Given the description of an element on the screen output the (x, y) to click on. 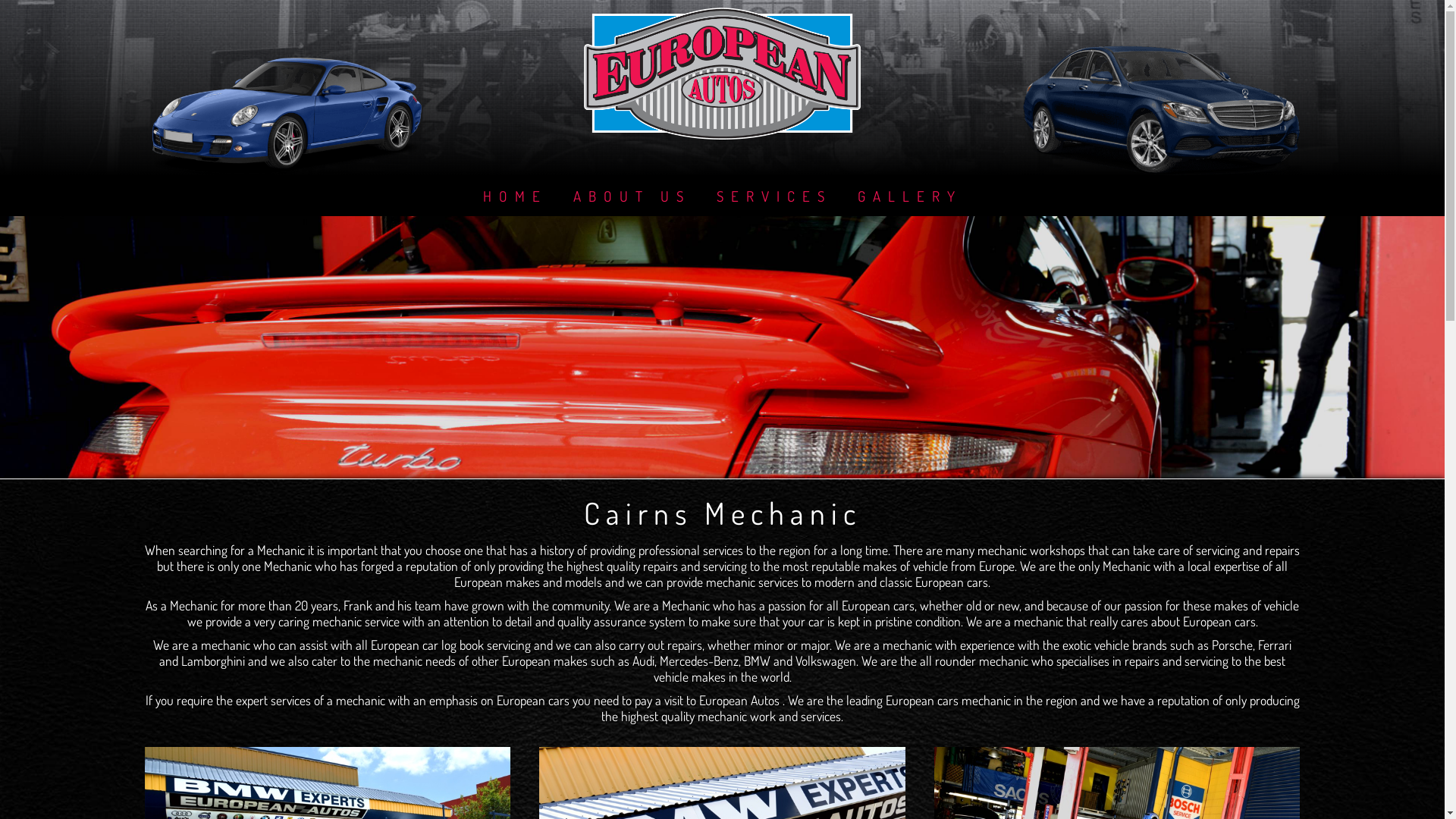
SERVICES Element type: text (773, 195)
GALLERY Element type: text (909, 195)
ABOUT US Element type: text (630, 195)
HOME Element type: text (515, 195)
